Given the description of an element on the screen output the (x, y) to click on. 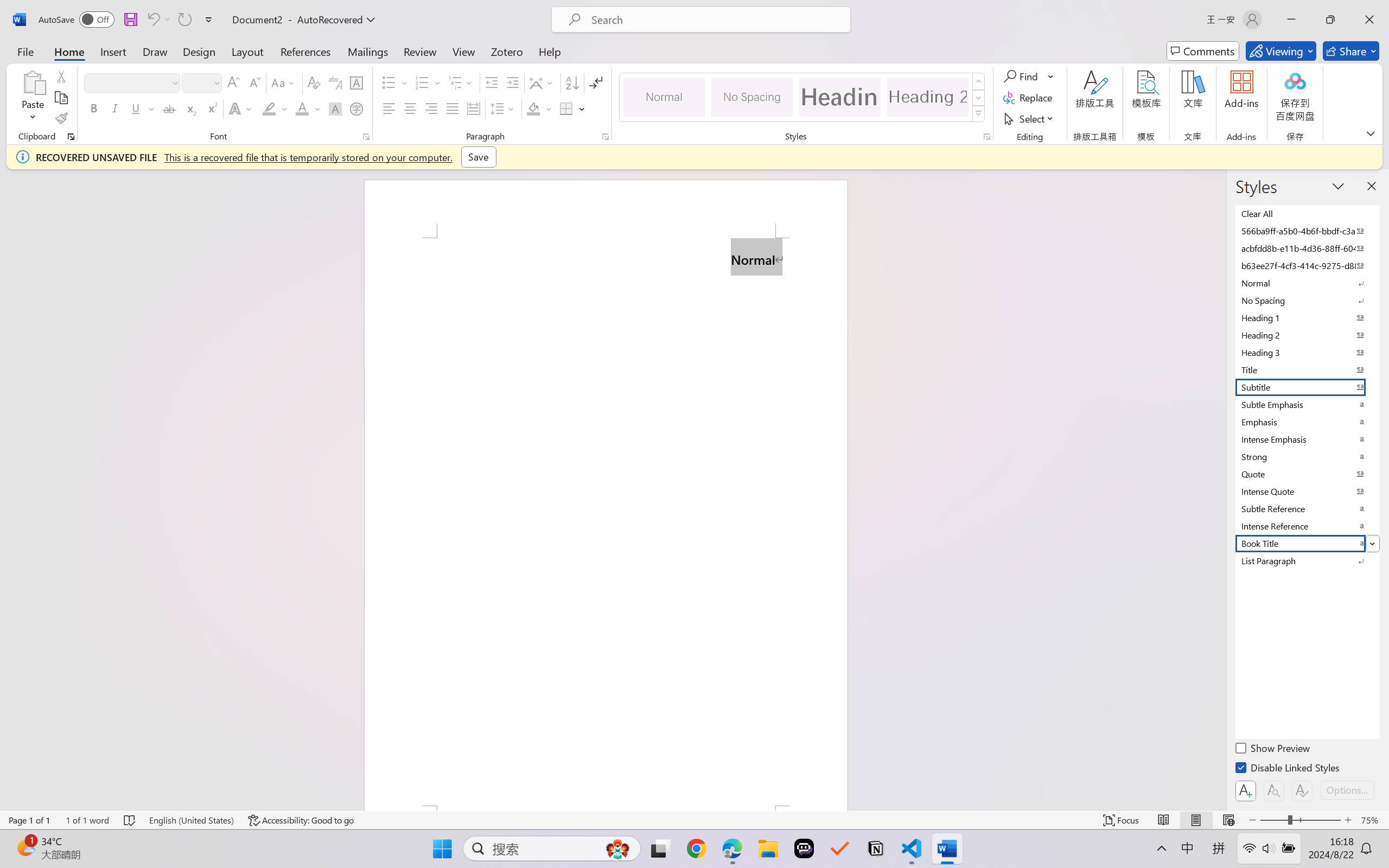
Enclose Characters... (356, 108)
Row up (978, 81)
Show Preview (1273, 749)
Disable Linked Styles (1287, 769)
Class: NetUIScrollBar (1219, 489)
Phonetic Guide... (334, 82)
Increase Indent (512, 82)
Superscript (210, 108)
Multilevel List (461, 82)
